Given the description of an element on the screen output the (x, y) to click on. 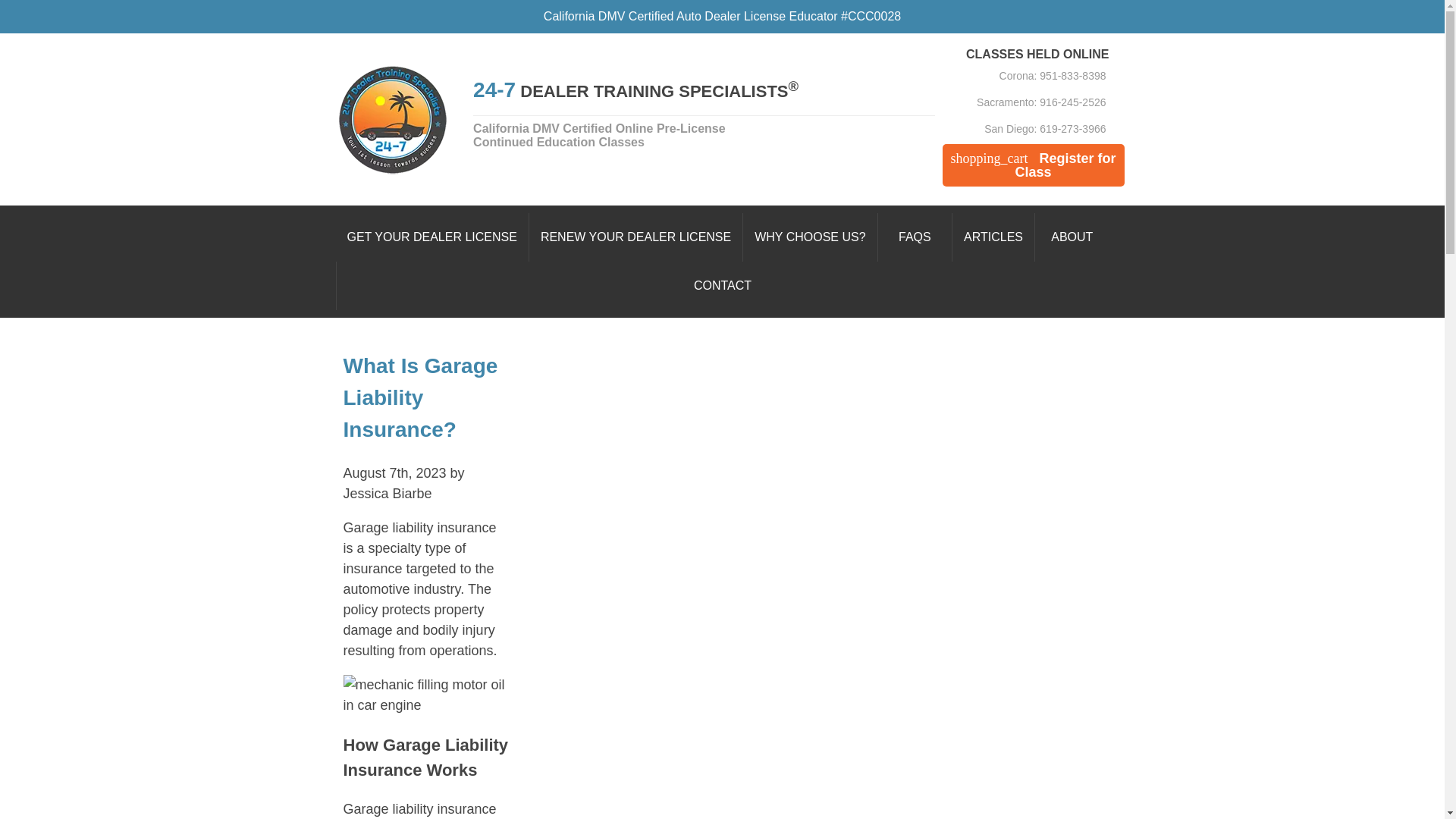
Sacramento: 916-245-2526 (1025, 101)
GET YOUR DEALER LICENSE (431, 236)
Home (634, 119)
San Diego: 619-273-3966 (1025, 128)
What Is Garage Liability Insurance? (419, 397)
ABOUT (1071, 236)
ARTICLES (993, 236)
CONTACT (722, 285)
Corona: 951-833-8398 (1025, 75)
FAQS (914, 236)
